Given the description of an element on the screen output the (x, y) to click on. 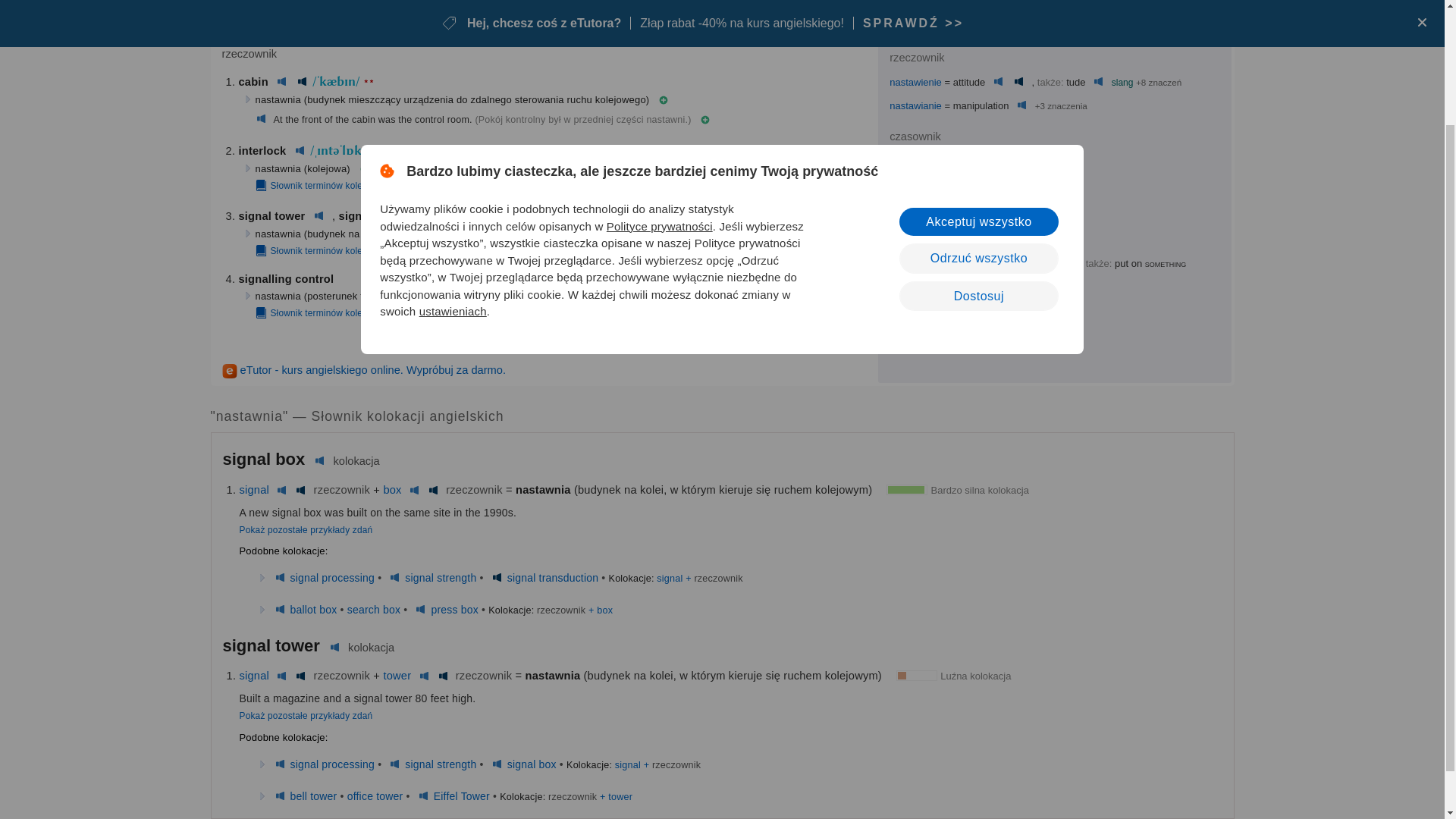
signal tower (271, 215)
British English (318, 215)
American English (1019, 81)
British English (975, 161)
British English (998, 81)
BrE (430, 216)
British English (1021, 105)
British English (1097, 81)
British English (281, 81)
signalling control (285, 278)
British English (260, 119)
interlock (261, 150)
signal box (366, 215)
British English (299, 150)
American English (302, 81)
